Given the description of an element on the screen output the (x, y) to click on. 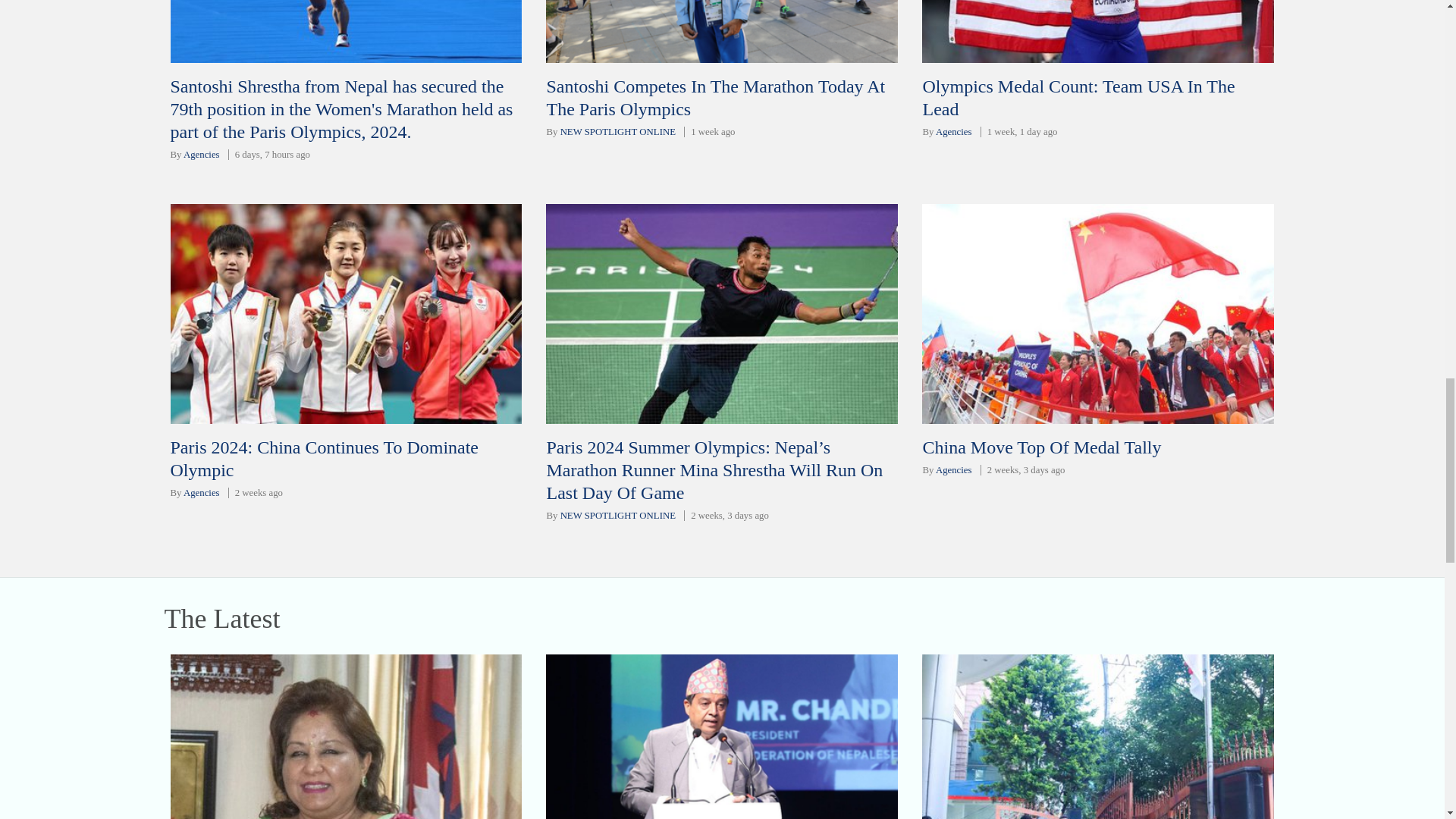
Agencies (954, 131)
Agencies (201, 492)
China Move Top Of Medal Tally (1040, 447)
Agencies (201, 154)
Paris 2024: China Continues To Dominate Olympic (324, 458)
Olympics Medal Count: Team USA In The Lead (1077, 97)
NEW SPOTLIGHT ONLINE (617, 131)
Agencies (954, 470)
